Given the description of an element on the screen output the (x, y) to click on. 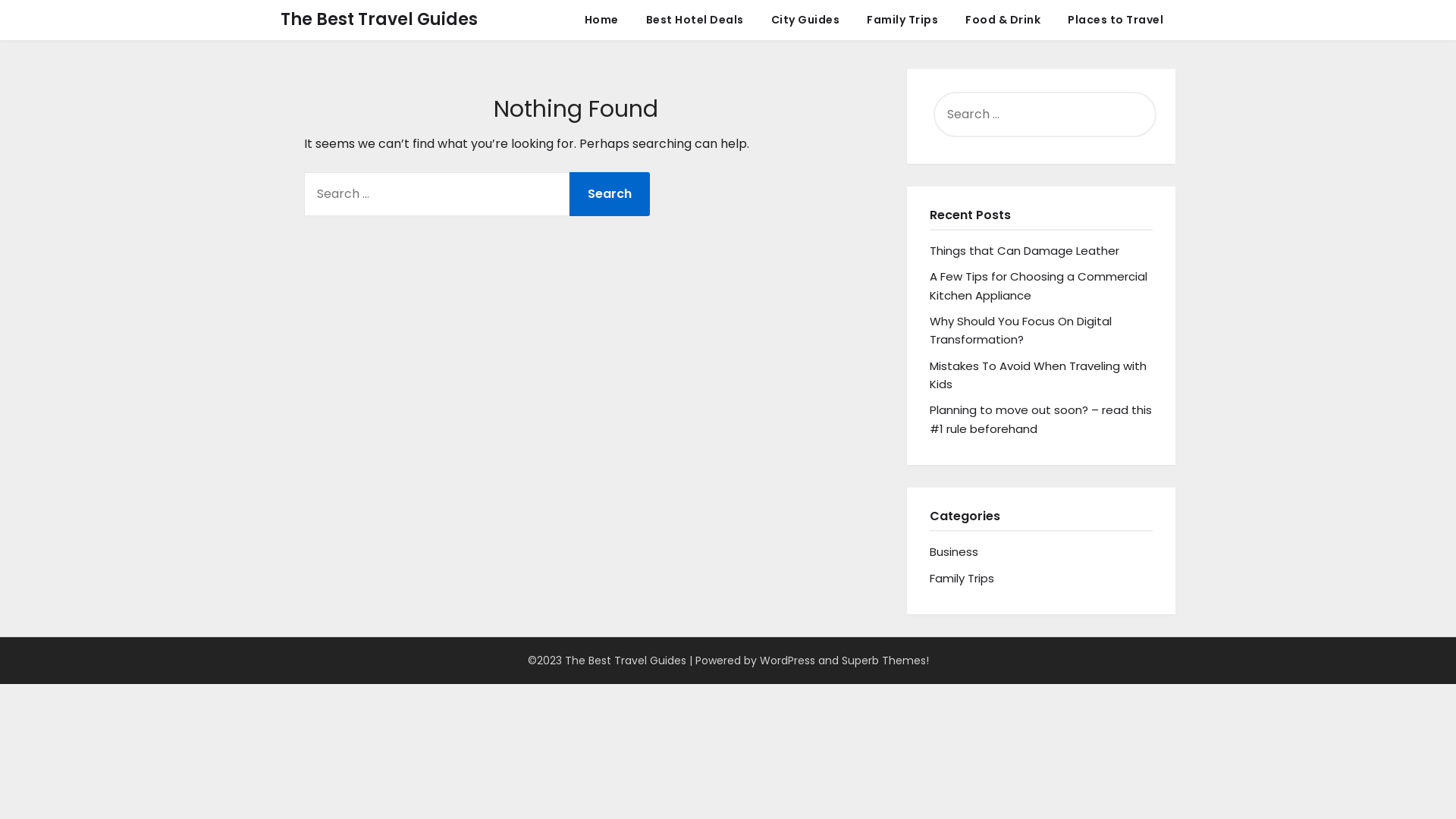
Things that Can Damage Leather Element type: text (1024, 250)
A Few Tips for Choosing a Commercial Kitchen Appliance Element type: text (1038, 285)
Family Trips Element type: text (902, 20)
City Guides Element type: text (804, 20)
Search Element type: text (609, 194)
Food & Drink Element type: text (1002, 20)
Family Trips Element type: text (961, 578)
Business Element type: text (953, 551)
Places to Travel Element type: text (1115, 20)
Superb Themes! Element type: text (884, 660)
Mistakes To Avoid When Traveling with Kids Element type: text (1037, 374)
Search Element type: text (40, 21)
Home Element type: text (600, 20)
Best Hotel Deals Element type: text (694, 20)
The Best Travel Guides Element type: text (378, 19)
Why Should You Focus On Digital Transformation? Element type: text (1020, 330)
